Given the description of an element on the screen output the (x, y) to click on. 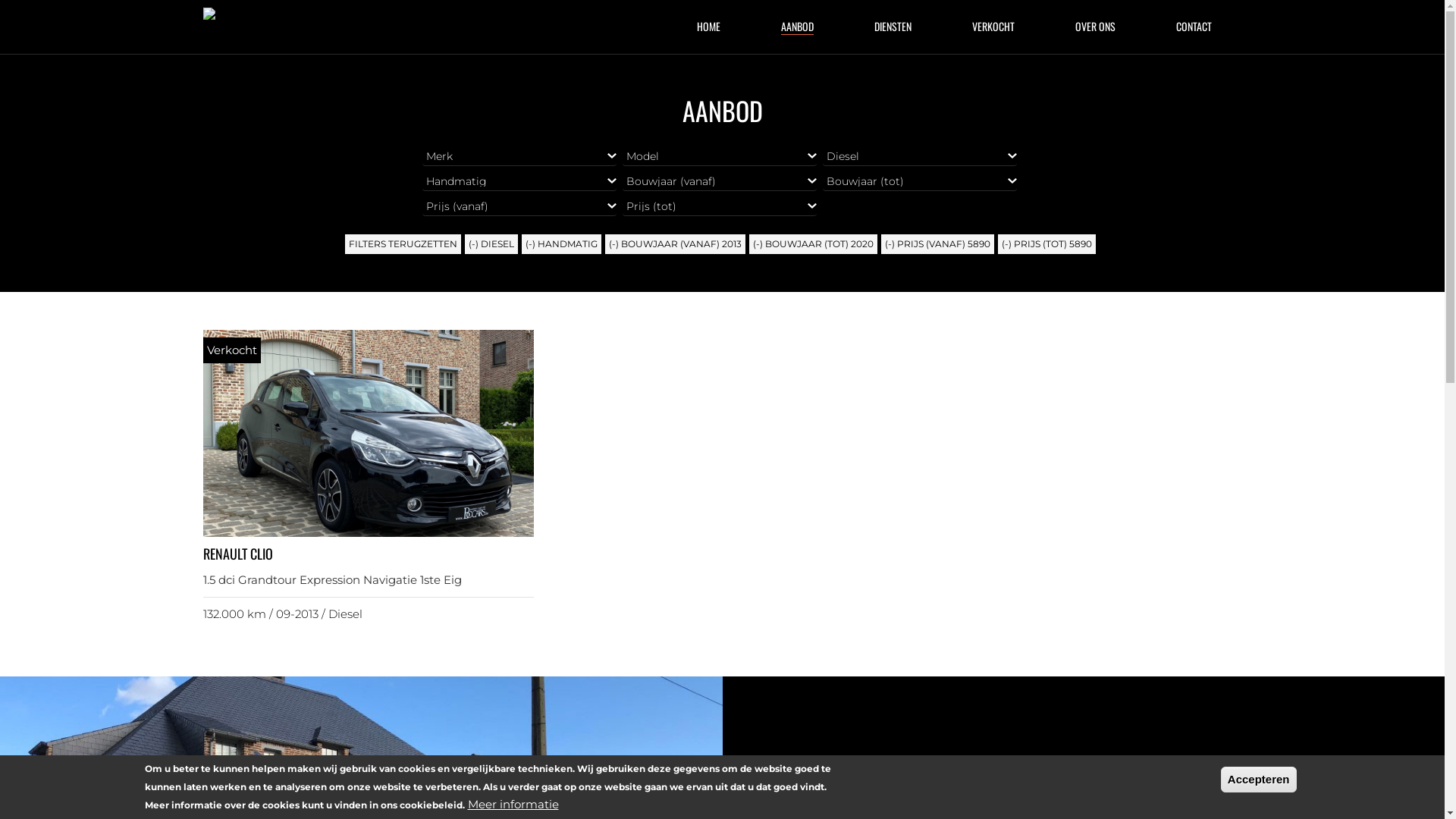
(-) BOUWJAAR (TOT) 2020 Element type: text (813, 243)
FILTERS TERUGZETTEN Element type: text (402, 243)
HOME Element type: text (707, 26)
Accepteren Element type: text (1258, 779)
Meer informatie Element type: text (512, 804)
Overslaan en naar de inhoud gaan Element type: text (0, 0)
OVER ONS Element type: text (1095, 26)
Home Element type: hover (232, 15)
(-) DIESEL Element type: text (491, 243)
(-) PRIJS (TOT) 5890 Element type: text (1046, 243)
AANBOD Element type: text (797, 26)
(-) PRIJS (VANAF) 5890 Element type: text (937, 243)
DIENSTEN Element type: text (891, 26)
VERKOCHT Element type: text (993, 26)
CONTACT Element type: text (1193, 26)
(-) BOUWJAAR (VANAF) 2013 Element type: text (674, 243)
(-) HANDMATIG Element type: text (561, 243)
